Given the description of an element on the screen output the (x, y) to click on. 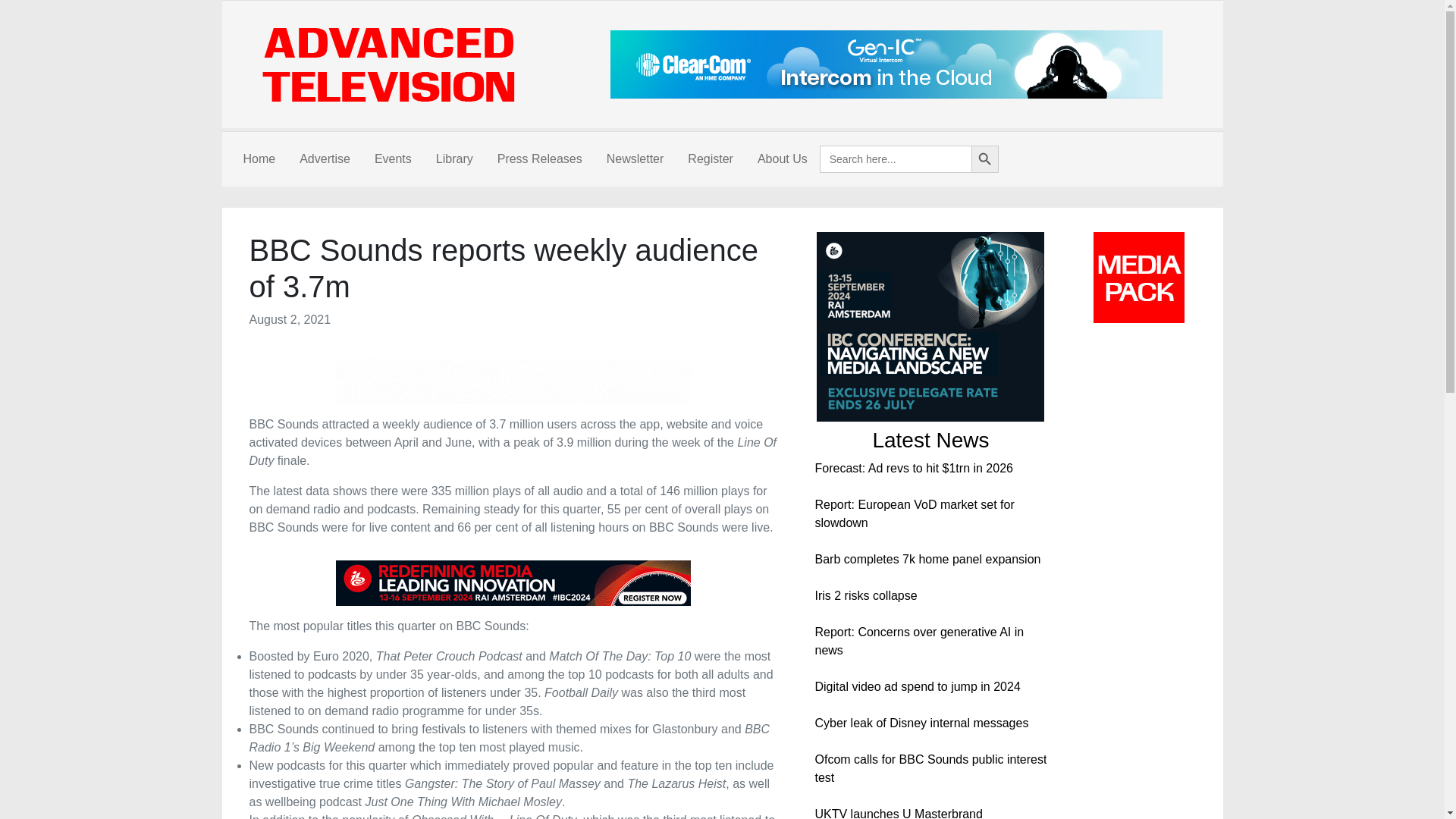
Advertise (324, 158)
Search Button (984, 158)
About Us (782, 158)
Events (392, 158)
Report: European VoD market set for slowdown (913, 513)
Barb completes 7k home panel expansion (927, 558)
Newsletter (635, 158)
Iris 2 risks collapse (865, 594)
Press Releases (539, 158)
Report: Concerns over generative AI in news (918, 640)
Register (710, 158)
Library (453, 158)
Home (258, 158)
